Given the description of an element on the screen output the (x, y) to click on. 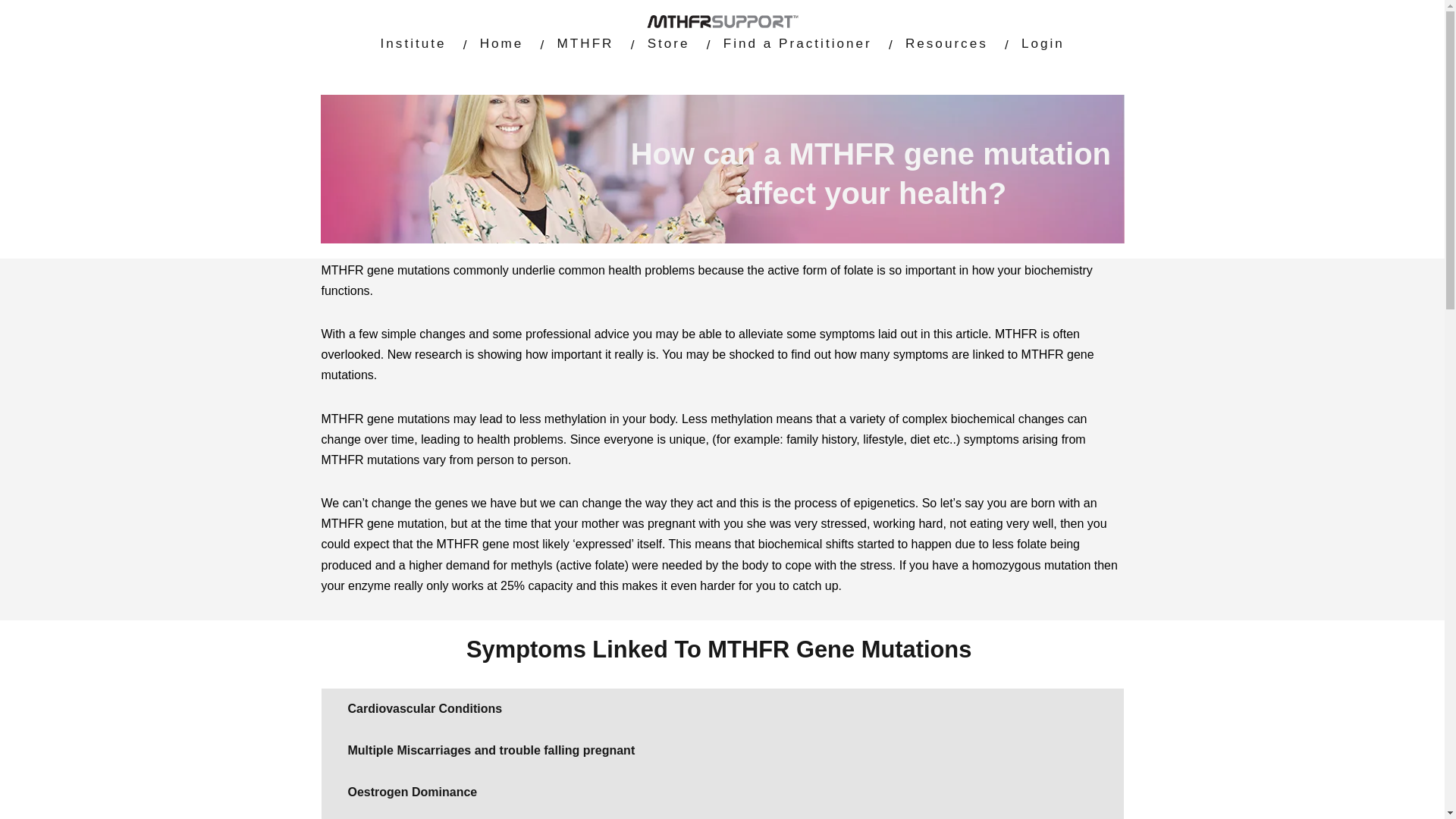
Store (668, 43)
Resources (947, 43)
Login (1042, 43)
MTHFR (585, 43)
Find a Practitioner (797, 43)
Home (502, 43)
Institute (413, 43)
